Given the description of an element on the screen output the (x, y) to click on. 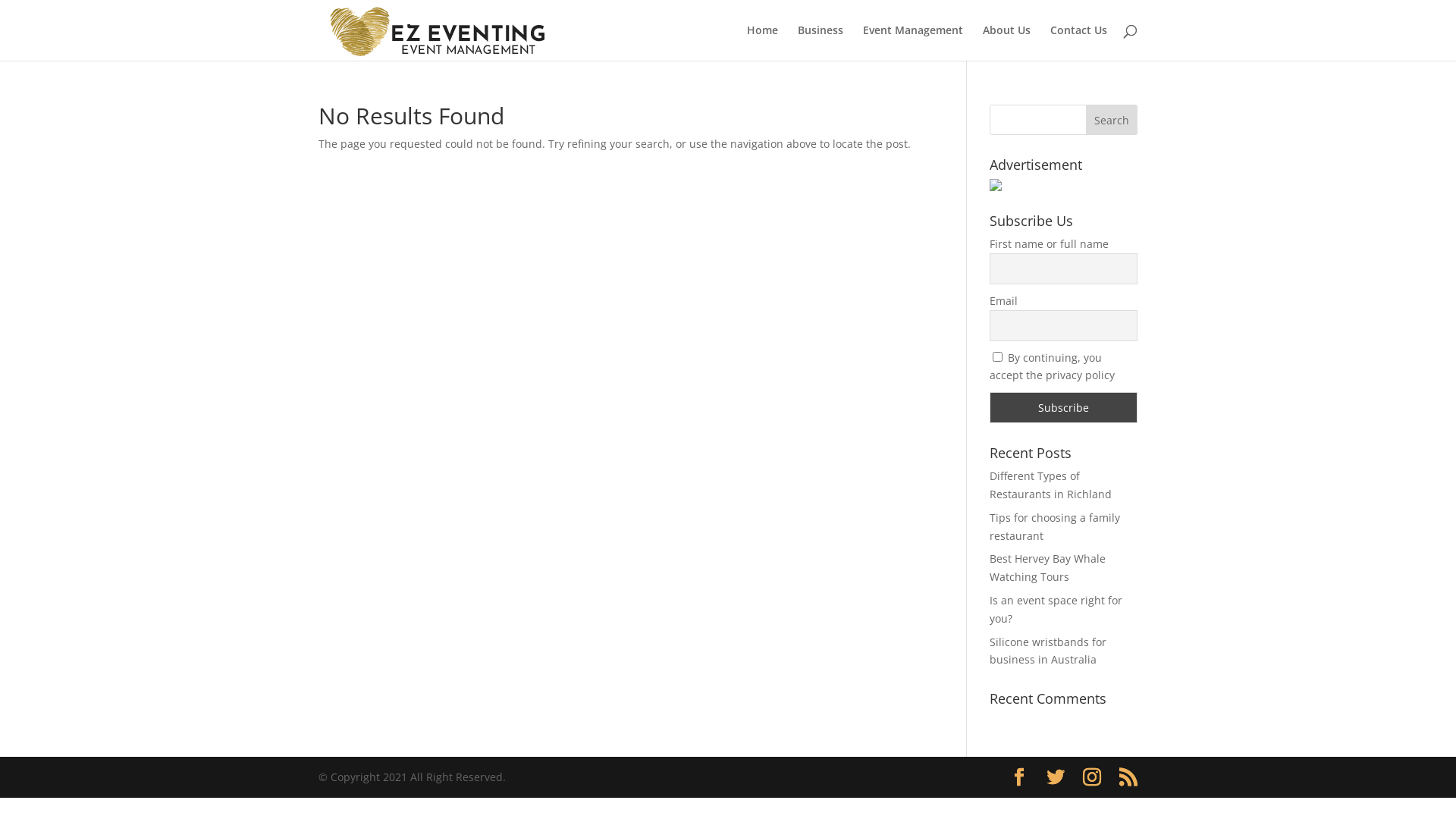
Subscribe Element type: text (1063, 407)
Search Element type: text (1111, 119)
Different Types of Restaurants in Richland Element type: text (1050, 484)
About Us Element type: text (1006, 42)
Silicone wristbands for business in Australia Element type: text (1047, 650)
Event Management Element type: text (912, 42)
Tips for choosing a family restaurant Element type: text (1054, 526)
Contact Us Element type: text (1078, 42)
Is an event space right for you? Element type: text (1055, 609)
Business Element type: text (820, 42)
Home Element type: text (762, 42)
Best Hervey Bay Whale Watching Tours Element type: text (1047, 567)
